Given the description of an element on the screen output the (x, y) to click on. 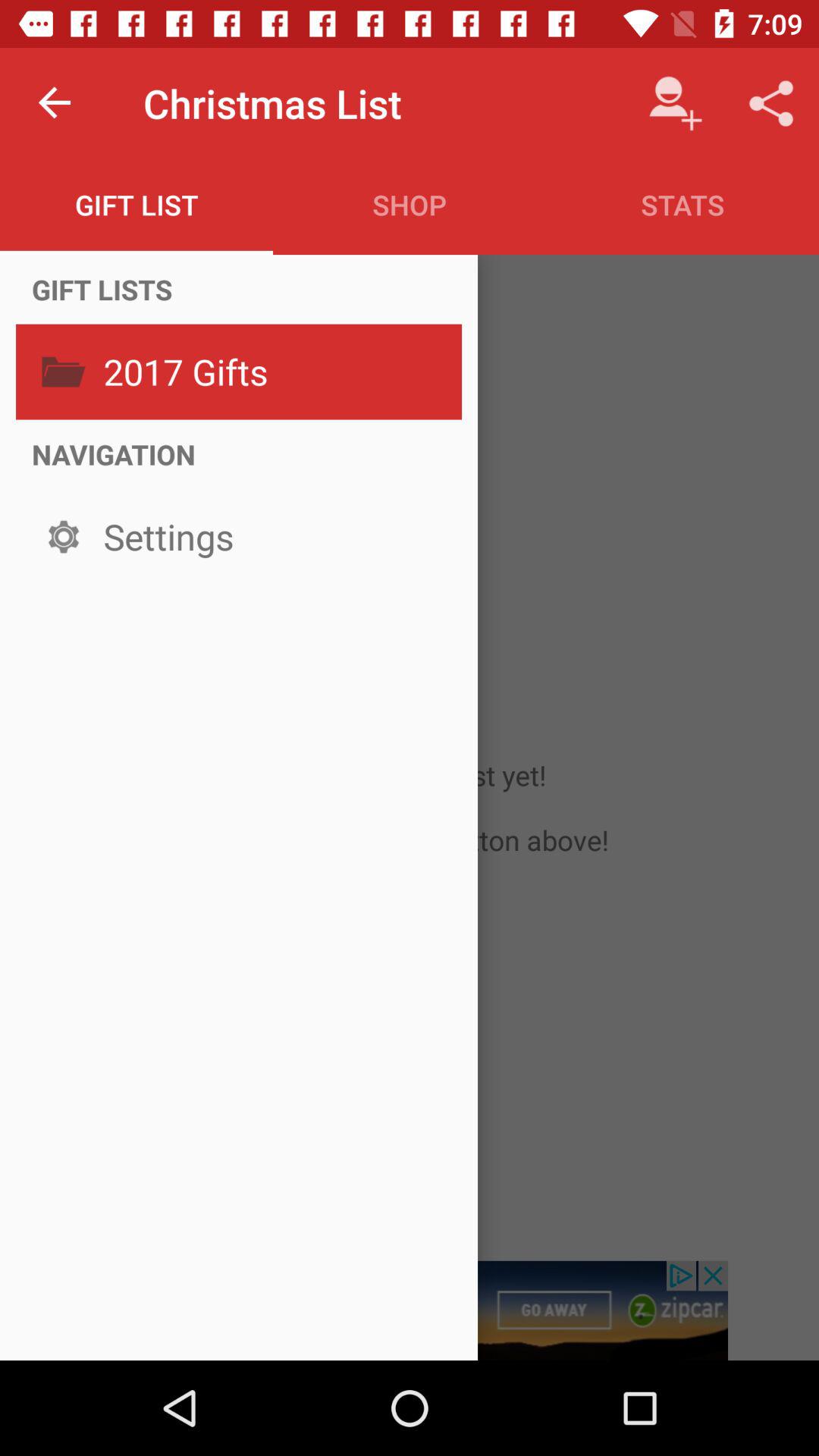
flip until the gift lists icon (101, 289)
